Given the description of an element on the screen output the (x, y) to click on. 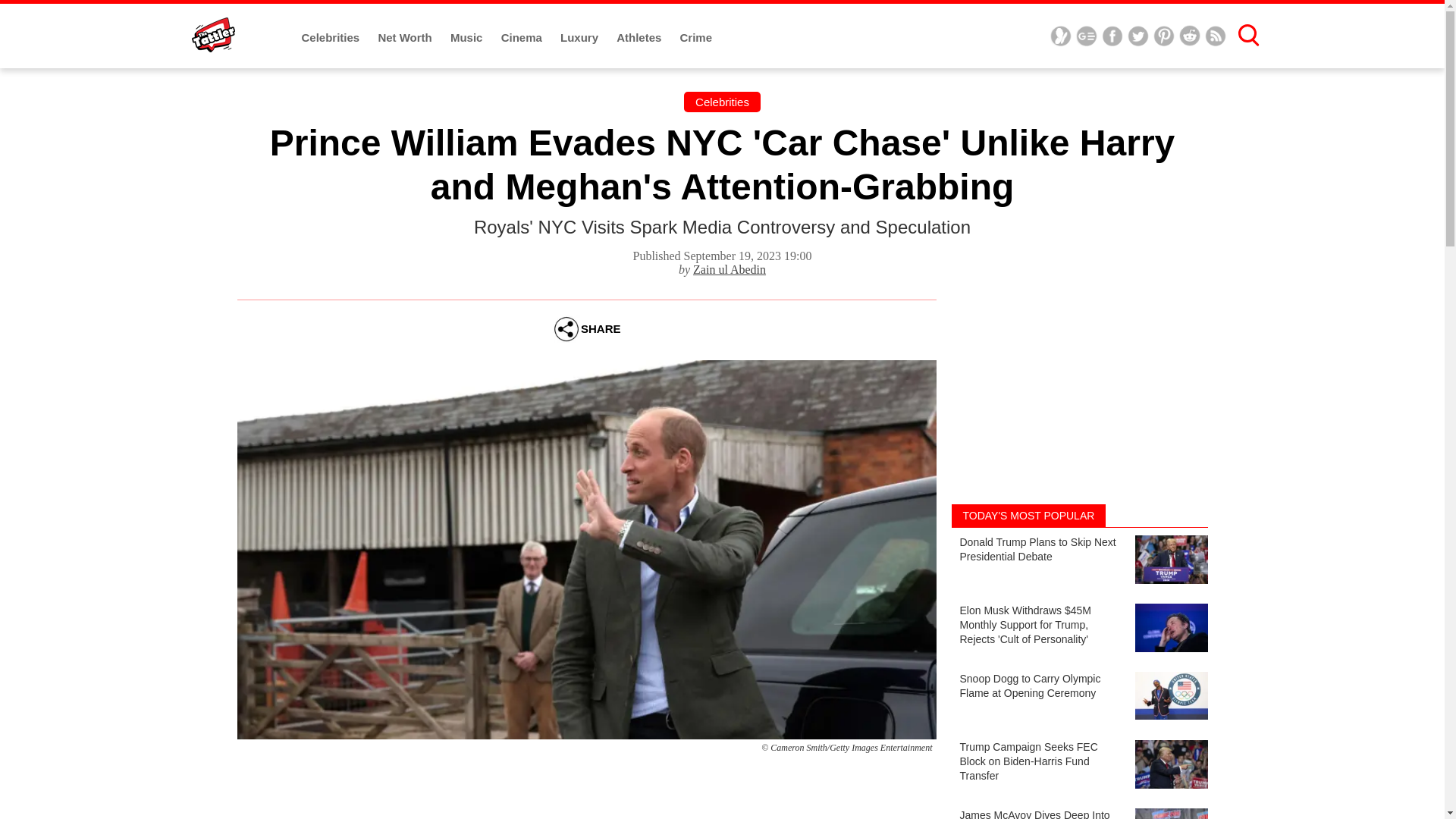
Luxury (580, 37)
Donald Trump Plans to Skip Next Presidential Debate (1078, 561)
Crime (696, 37)
Net Worth (406, 37)
Athletes (639, 37)
Snoop Dogg to Carry Olympic Flame at Opening Ceremony (1078, 697)
Zain ul Abedin (729, 269)
Celebrities (722, 101)
Music (467, 37)
Cinema (522, 37)
Celebrities (331, 37)
